Given the description of an element on the screen output the (x, y) to click on. 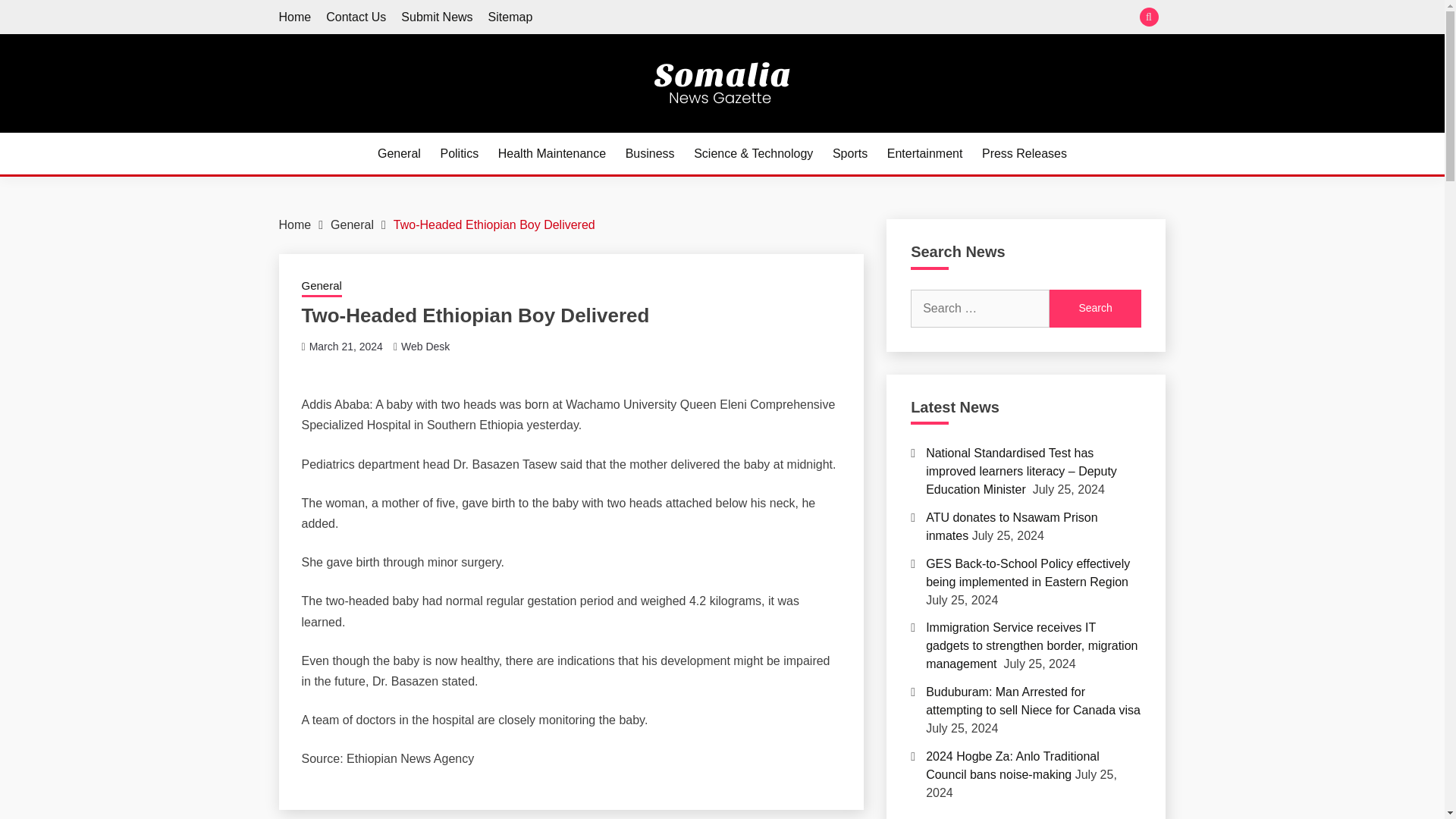
March 21, 2024 (345, 346)
Press Releases (1024, 153)
Entertainment (924, 153)
Web Desk (425, 346)
SOMALIA NEWS GAZETTE (457, 130)
ATU donates to Nsawam Prison inmates (1011, 526)
Search (1095, 308)
Health Maintenance (551, 153)
Search (832, 18)
Contact Us (355, 16)
Two-Headed Ethiopian Boy Delivered (494, 224)
Search (1095, 308)
Home (295, 16)
Sitemap (509, 16)
Home (295, 16)
